Given the description of an element on the screen output the (x, y) to click on. 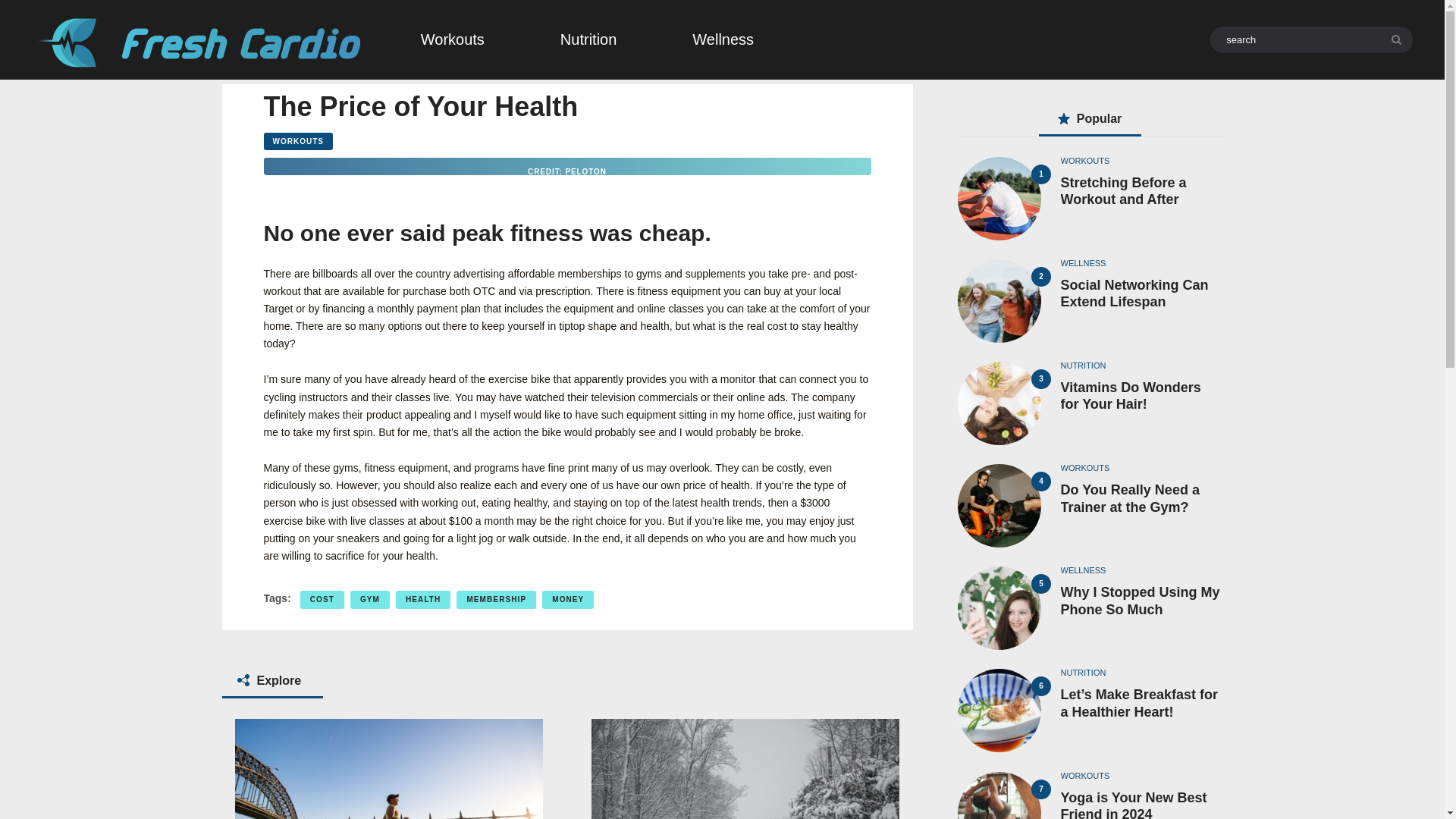
Wellness (722, 39)
View all posts in Wellness (1082, 262)
View all posts in Nutrition (1082, 672)
View all posts in Wellness (1082, 569)
View all posts in Nutrition (1082, 365)
GYM (370, 599)
Workouts (452, 39)
COST (321, 599)
HEALTH (422, 599)
MONEY (567, 599)
